Given the description of an element on the screen output the (x, y) to click on. 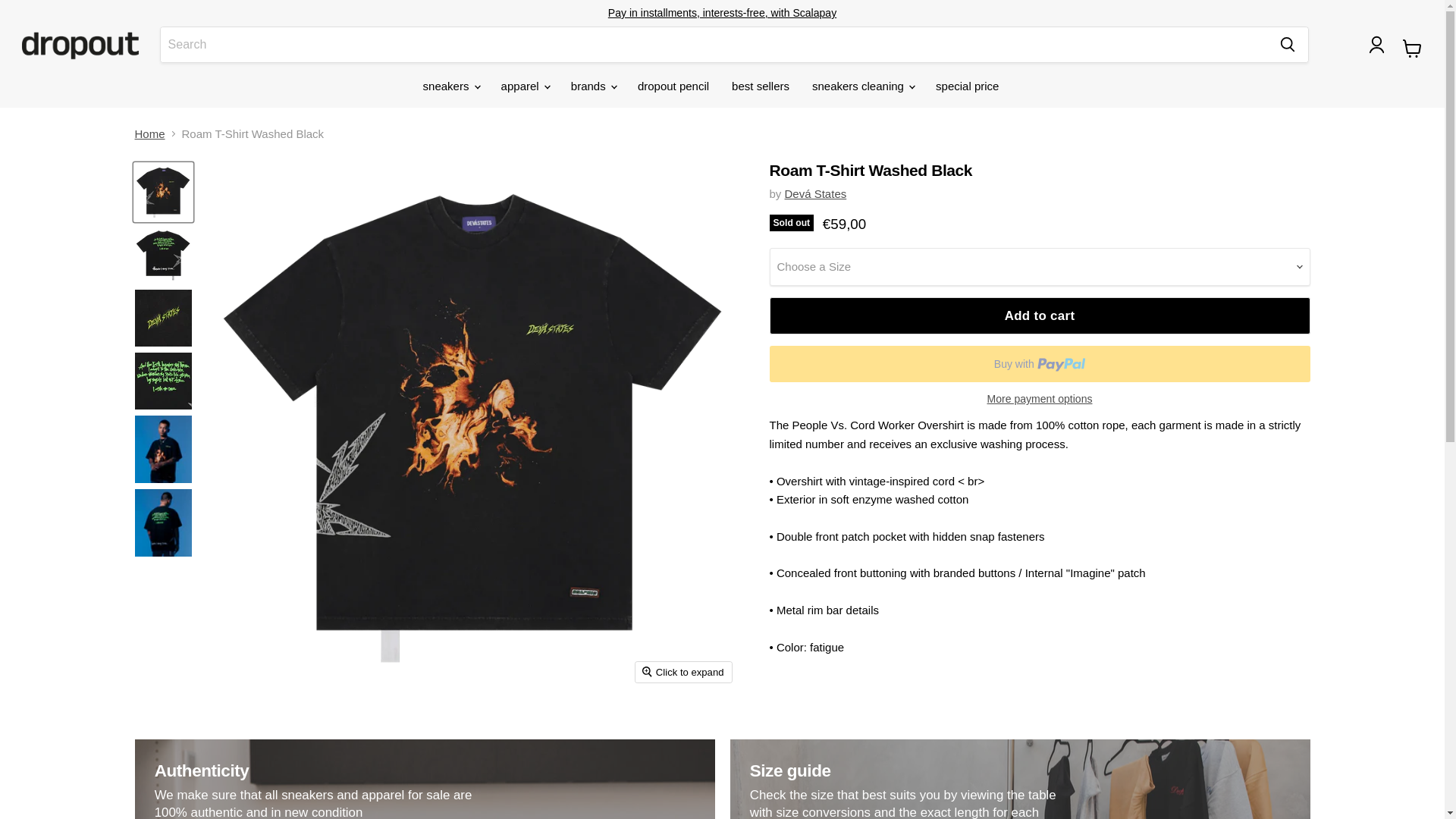
View cart (1411, 48)
